Given the description of an element on the screen output the (x, y) to click on. 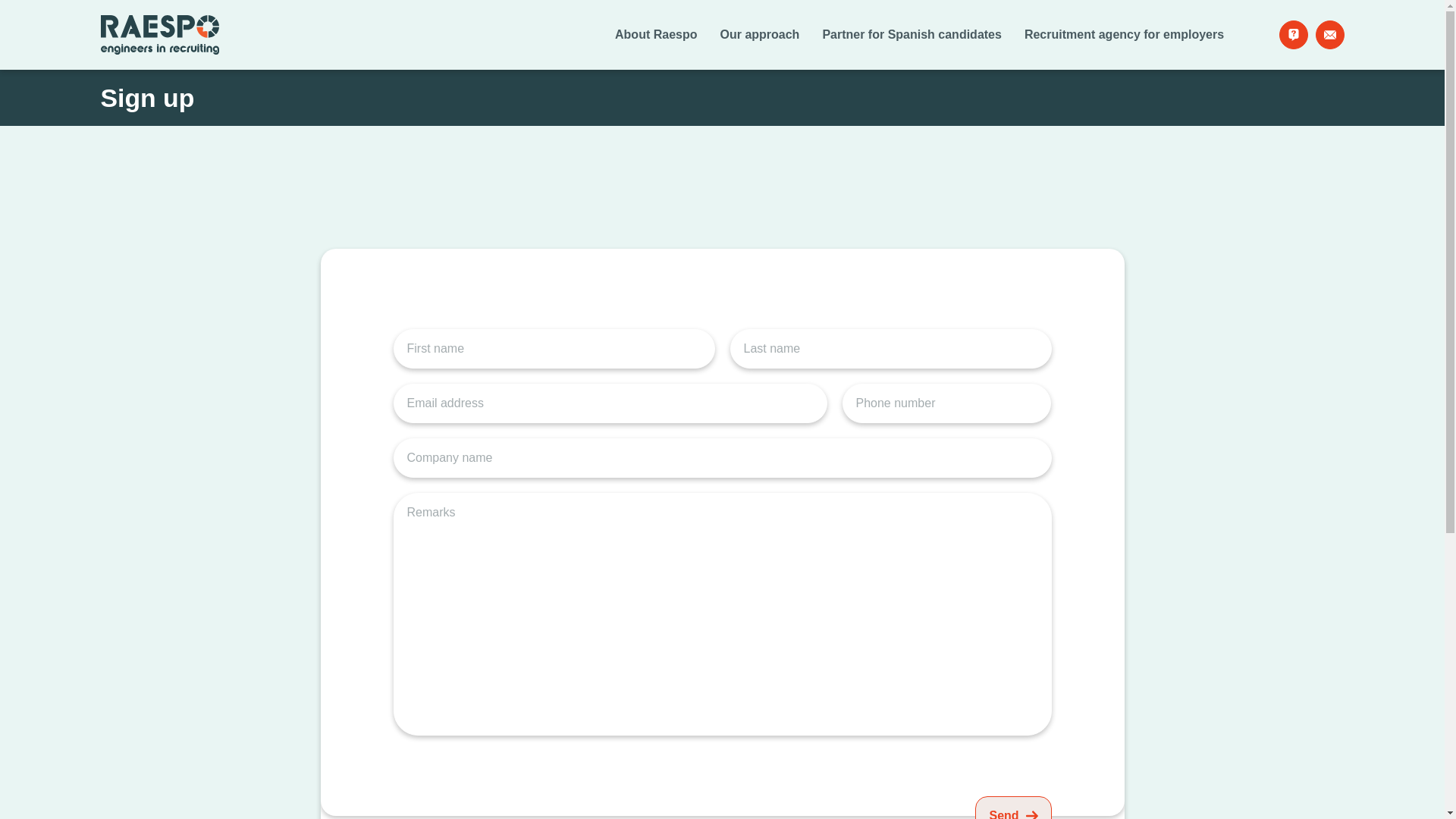
About Raespo (655, 34)
Partner for Spanish candidates (911, 34)
Recruitment agency for employers (1124, 34)
Contact us (1328, 34)
Our approach (759, 34)
About Raespo (655, 34)
FAQ (1292, 34)
Our approach (759, 34)
Partner for Spanish candidates (911, 34)
Recruitment agency for employers (1124, 34)
